Given the description of an element on the screen output the (x, y) to click on. 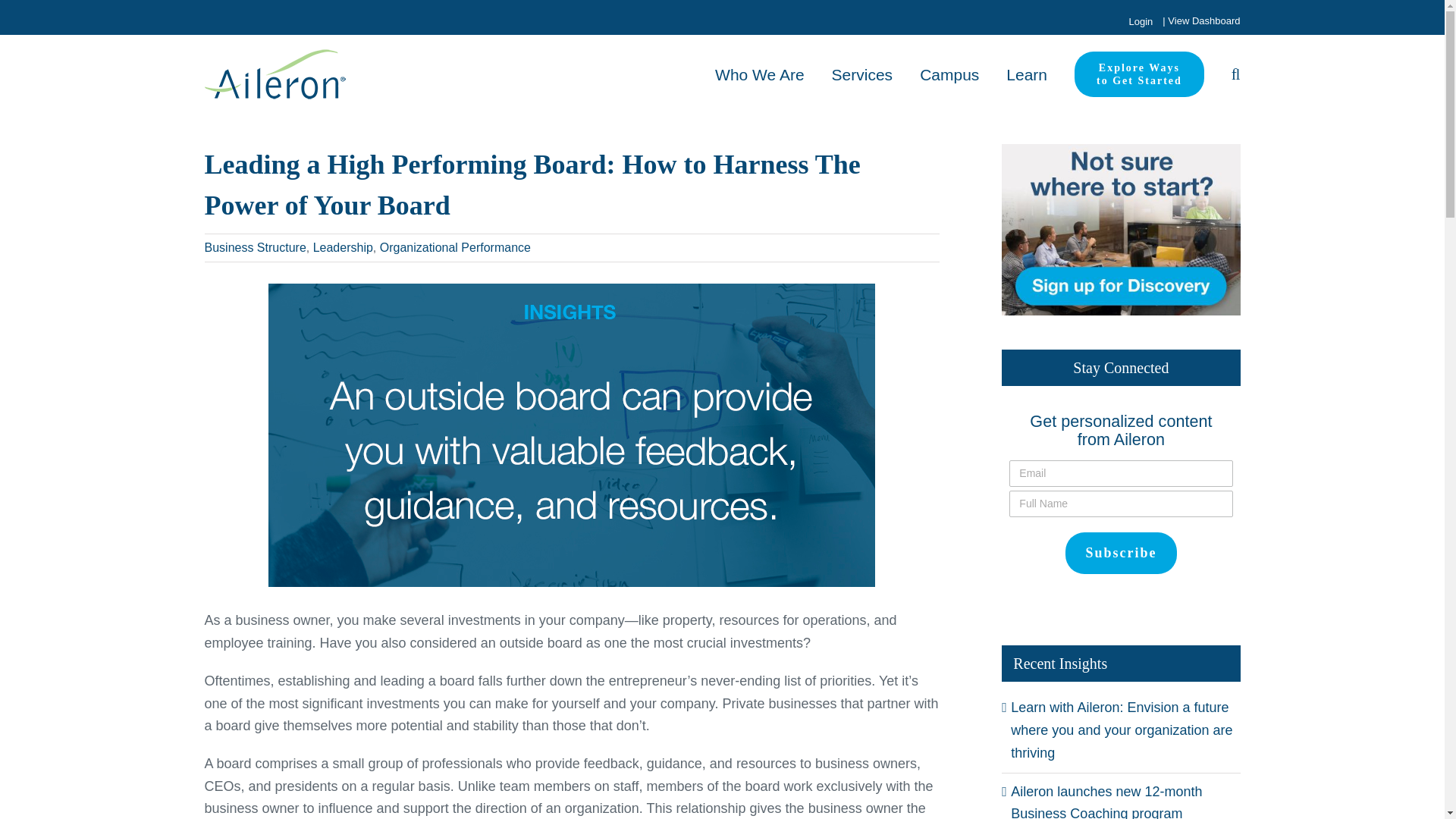
Campus (949, 73)
Services (862, 73)
Login (1139, 21)
Who We Are (1139, 73)
View Dashboard (759, 73)
